Given the description of an element on the screen output the (x, y) to click on. 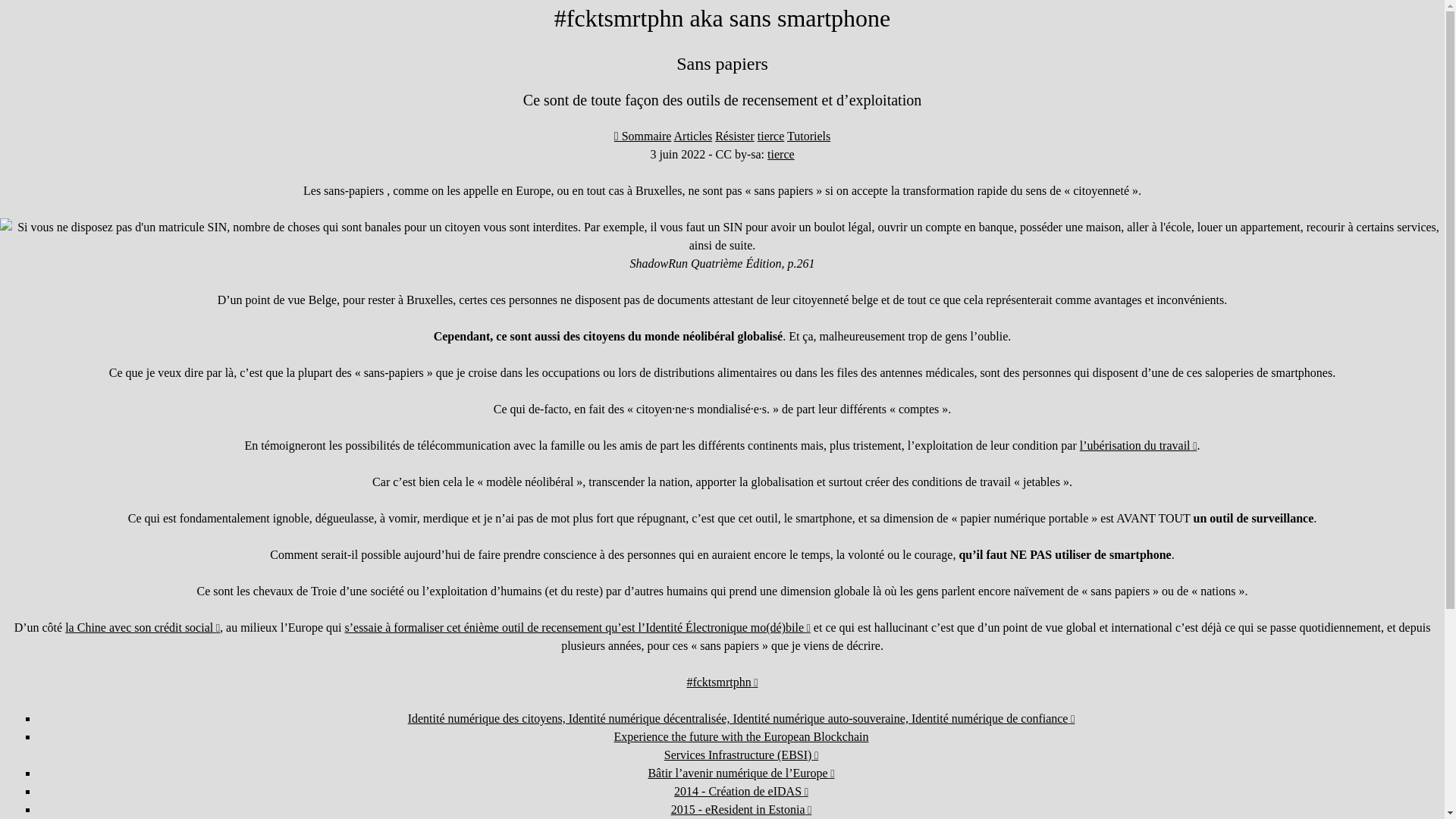
tierce Element type: text (780, 153)
2015 - eResident in Estonia Element type: text (741, 809)
#fcktsmrtphn Element type: text (721, 681)
tierce Element type: text (770, 135)
Articles Element type: text (693, 135)
Tutoriels Element type: text (808, 135)
